Given the description of an element on the screen output the (x, y) to click on. 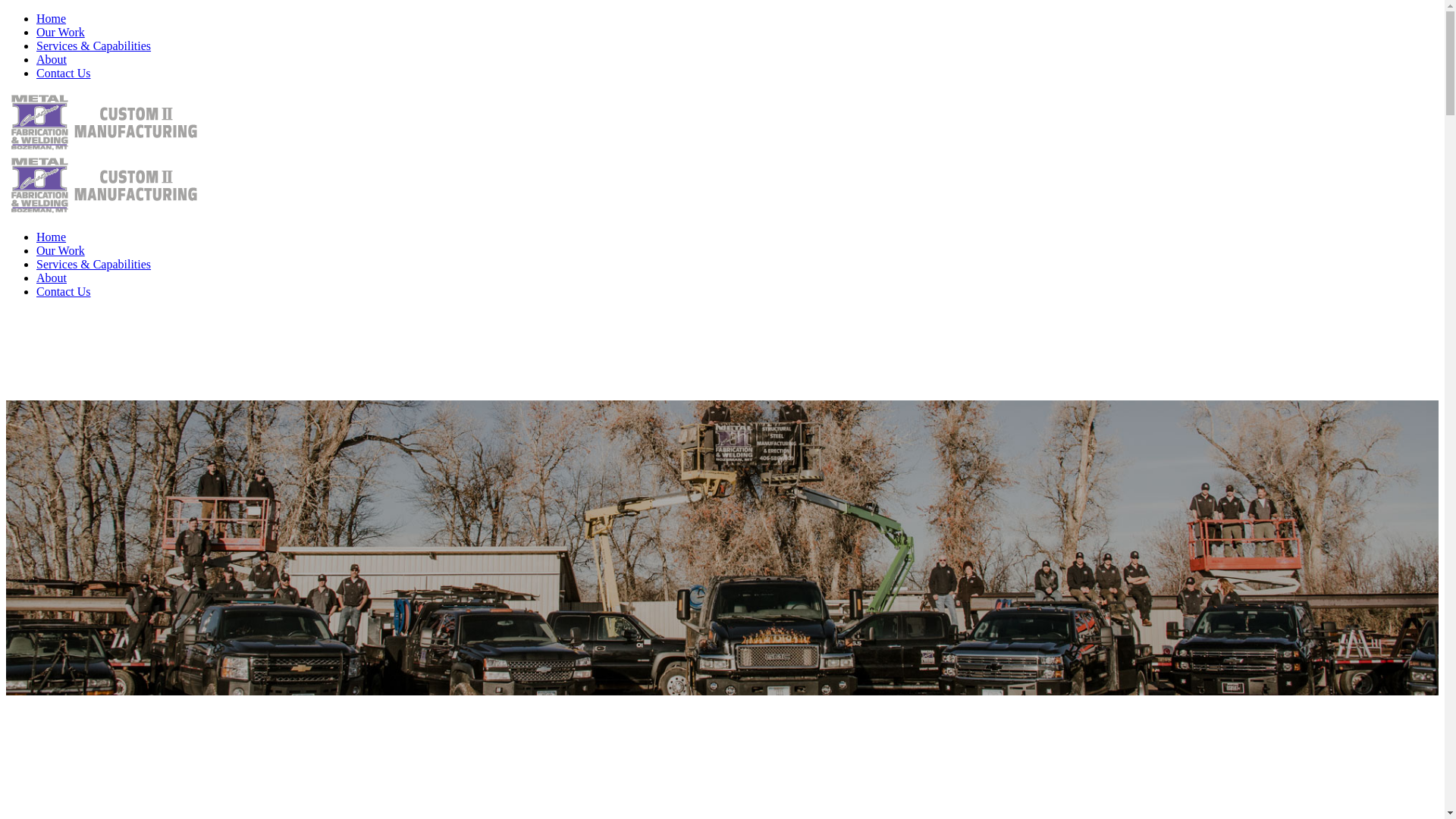
Our Work Element type: text (60, 250)
Home Element type: text (50, 18)
Home Element type: text (50, 236)
About Element type: text (51, 59)
Contact Us Element type: text (63, 291)
About Element type: text (51, 277)
Services & Capabilities Element type: text (93, 263)
Services & Capabilities Element type: text (93, 45)
Contact Us Element type: text (63, 72)
Our Work Element type: text (60, 31)
